Given the description of an element on the screen output the (x, y) to click on. 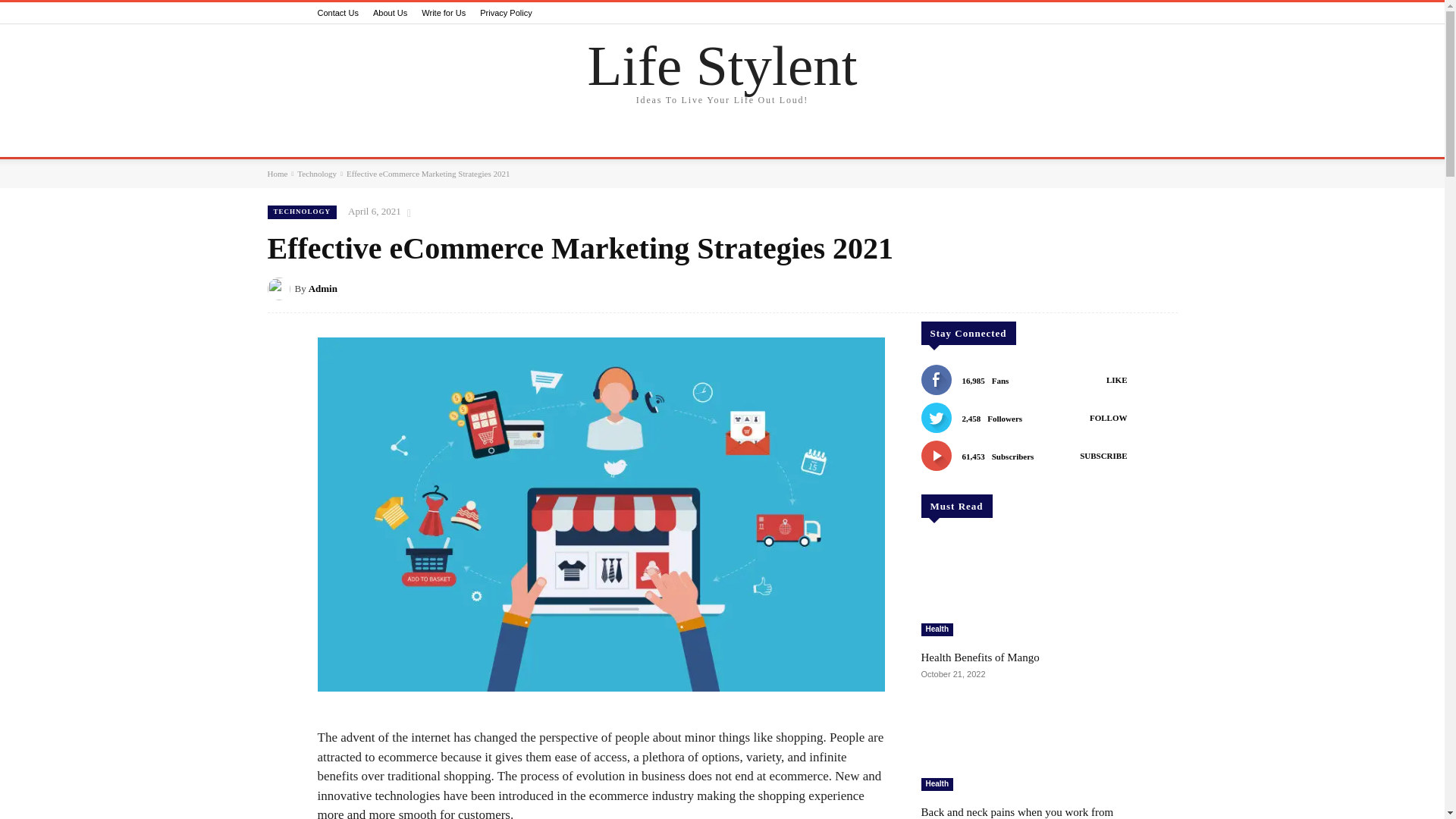
Write for Us (443, 12)
View all posts in Technology (316, 173)
HEALTH (401, 140)
TECHNOLOGY (481, 140)
Life Stylent Ideas To Live Your Life Out Loud! (721, 74)
Technology (316, 173)
Contact Us (337, 12)
TECHNOLOGY (301, 211)
Admin (280, 288)
ENTERTAINMENT (714, 140)
